Given the description of an element on the screen output the (x, y) to click on. 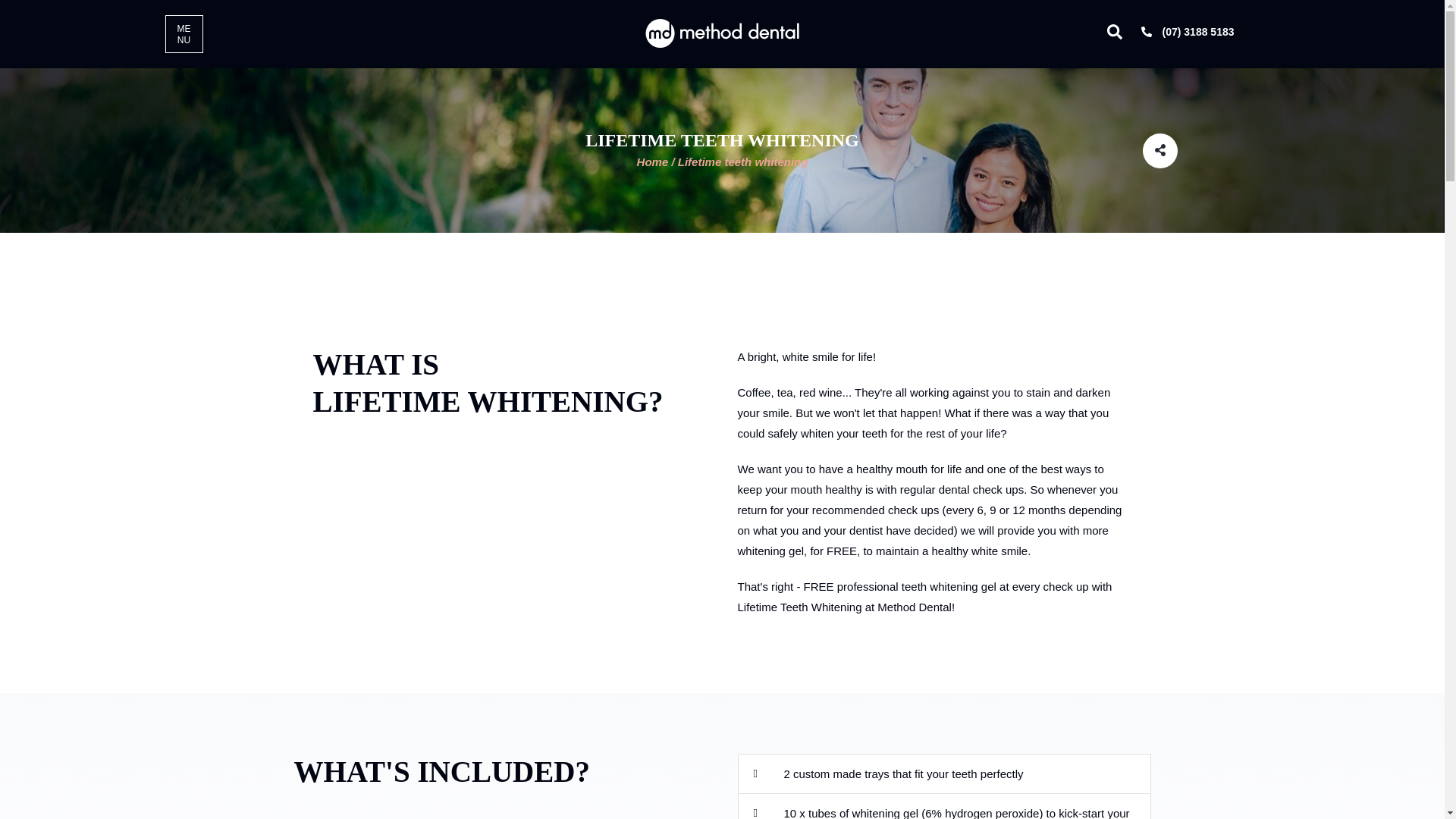
Method Dental (722, 31)
